Given the description of an element on the screen output the (x, y) to click on. 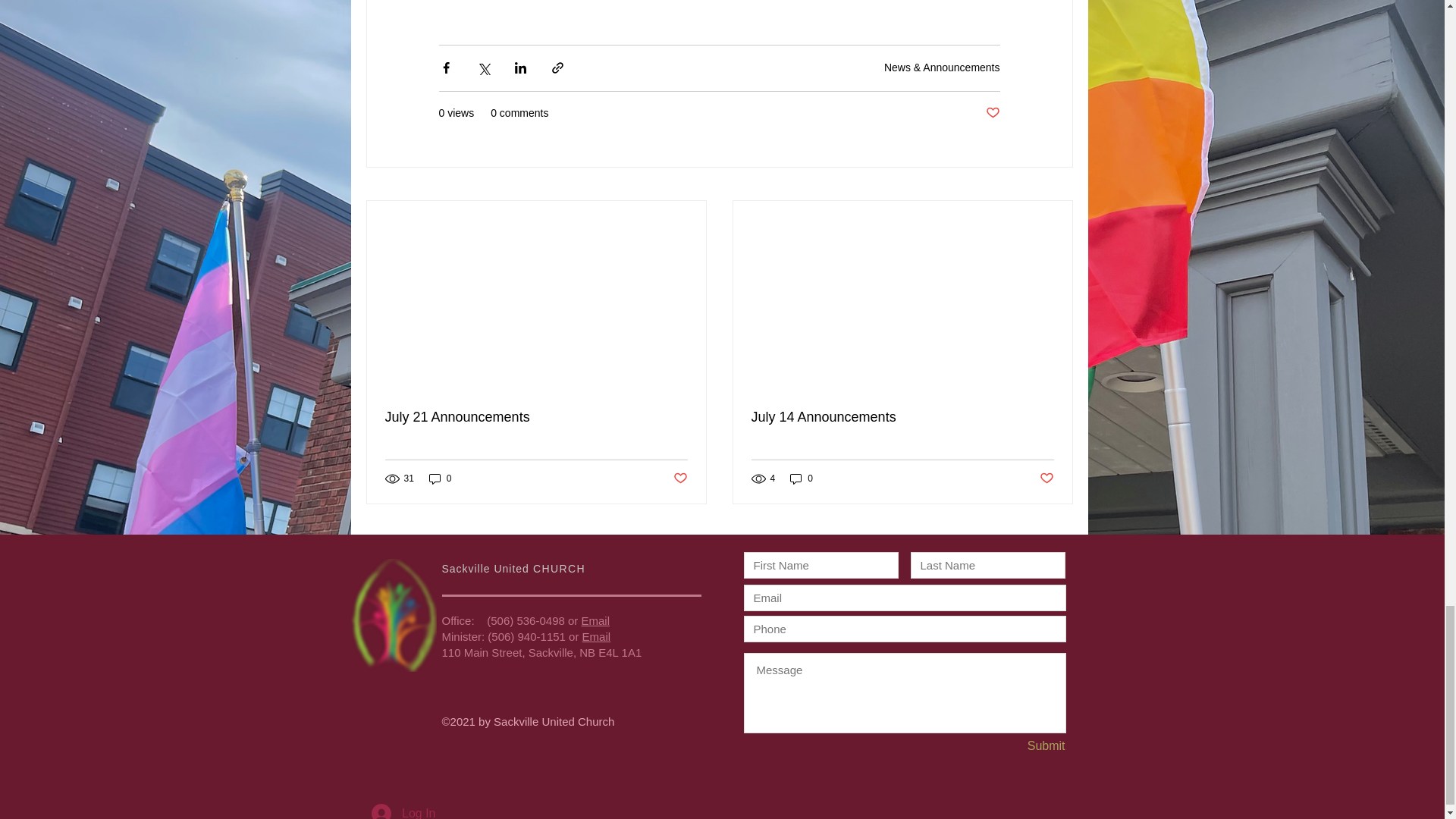
July 21 Announcements (536, 417)
July 14 Announcements (901, 417)
0 (440, 478)
Post not marked as liked (992, 113)
Post not marked as liked (679, 478)
